Given the description of an element on the screen output the (x, y) to click on. 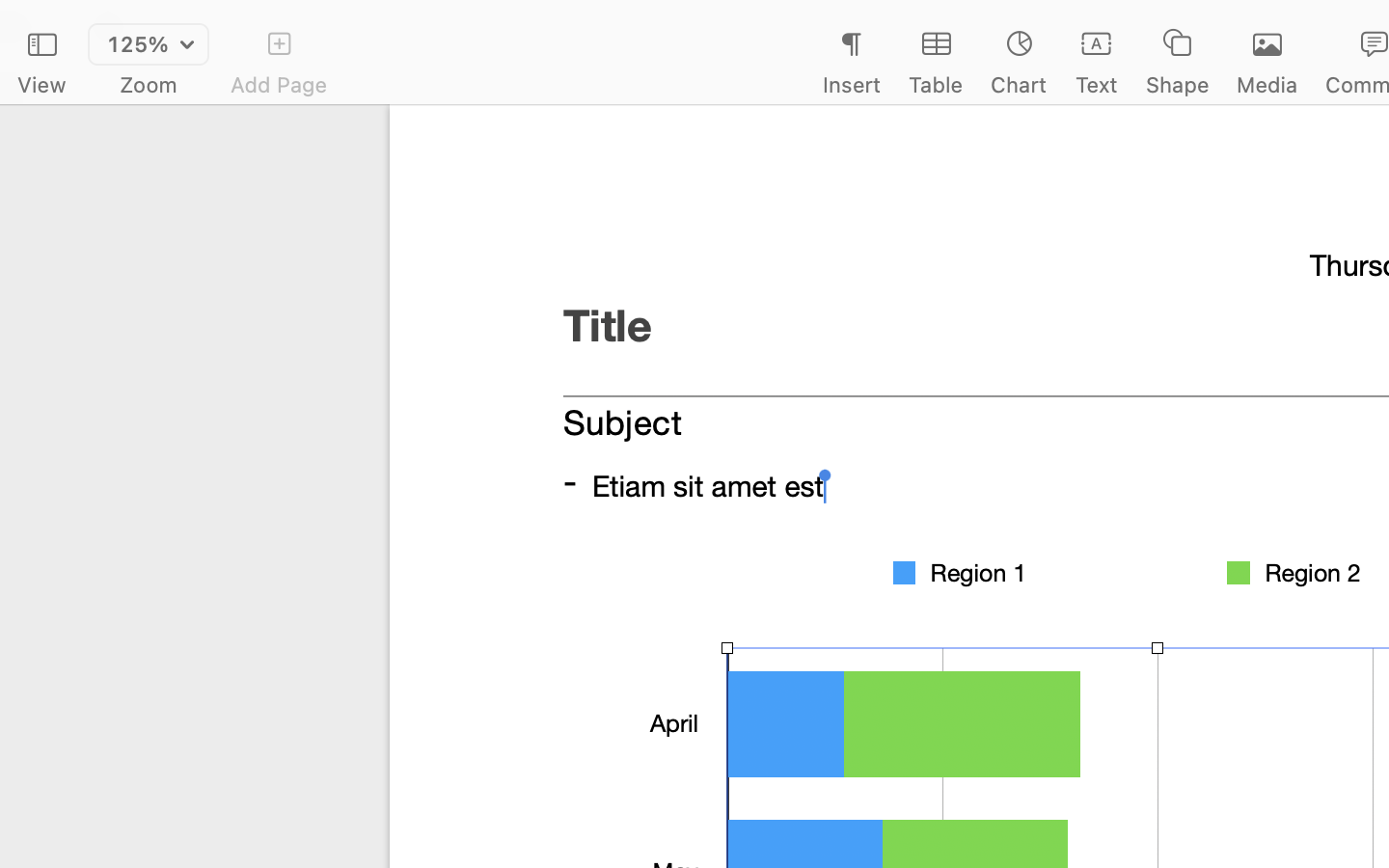
View Element type: AXStaticText (41, 84)
Learn More Element type: AXStaticText (1126, 618)
Zoom Element type: AXStaticText (148, 84)
Media Element type: AXStaticText (1267, 84)
